Given the description of an element on the screen output the (x, y) to click on. 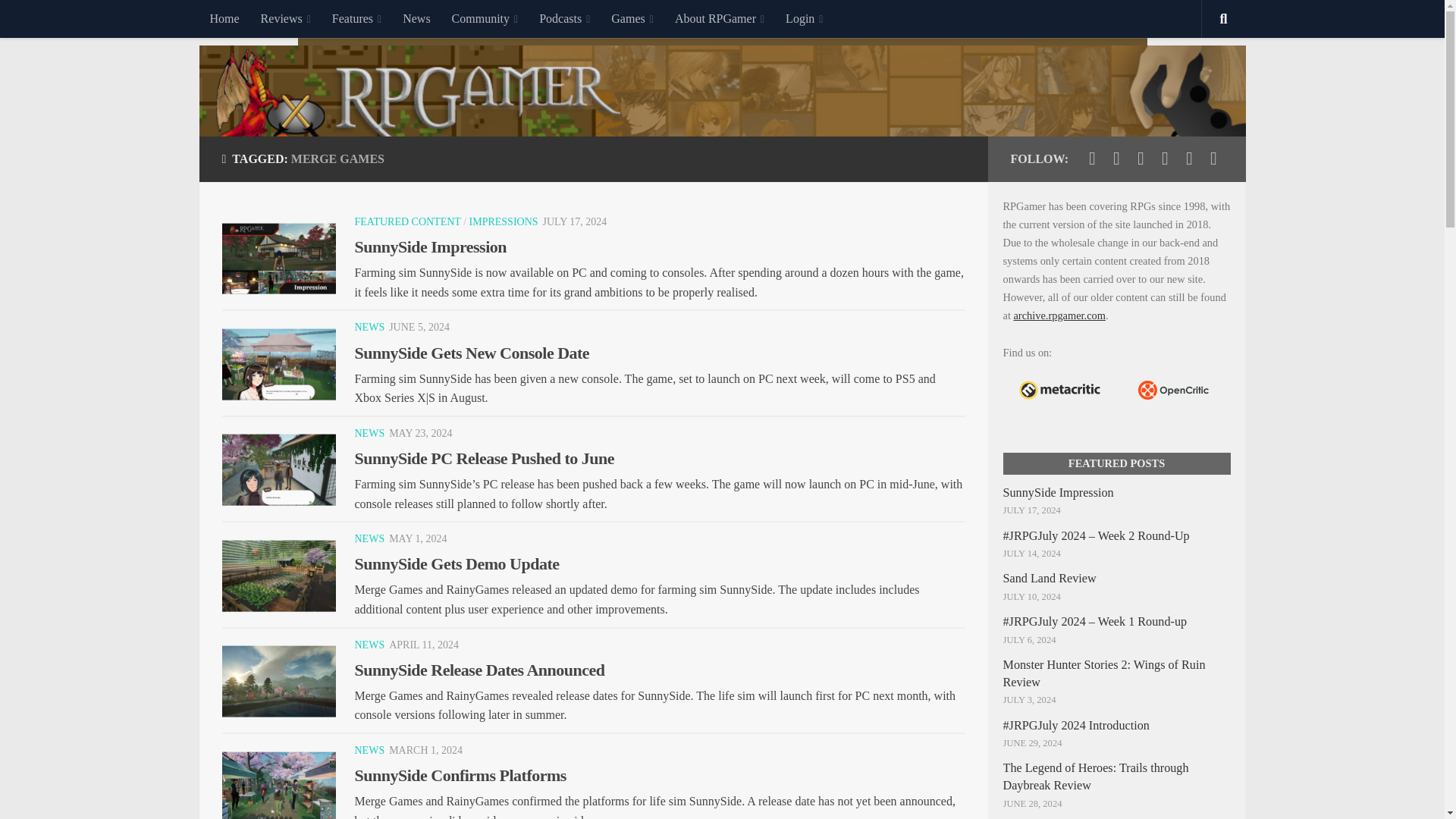
Skip to content (59, 20)
